Given the description of an element on the screen output the (x, y) to click on. 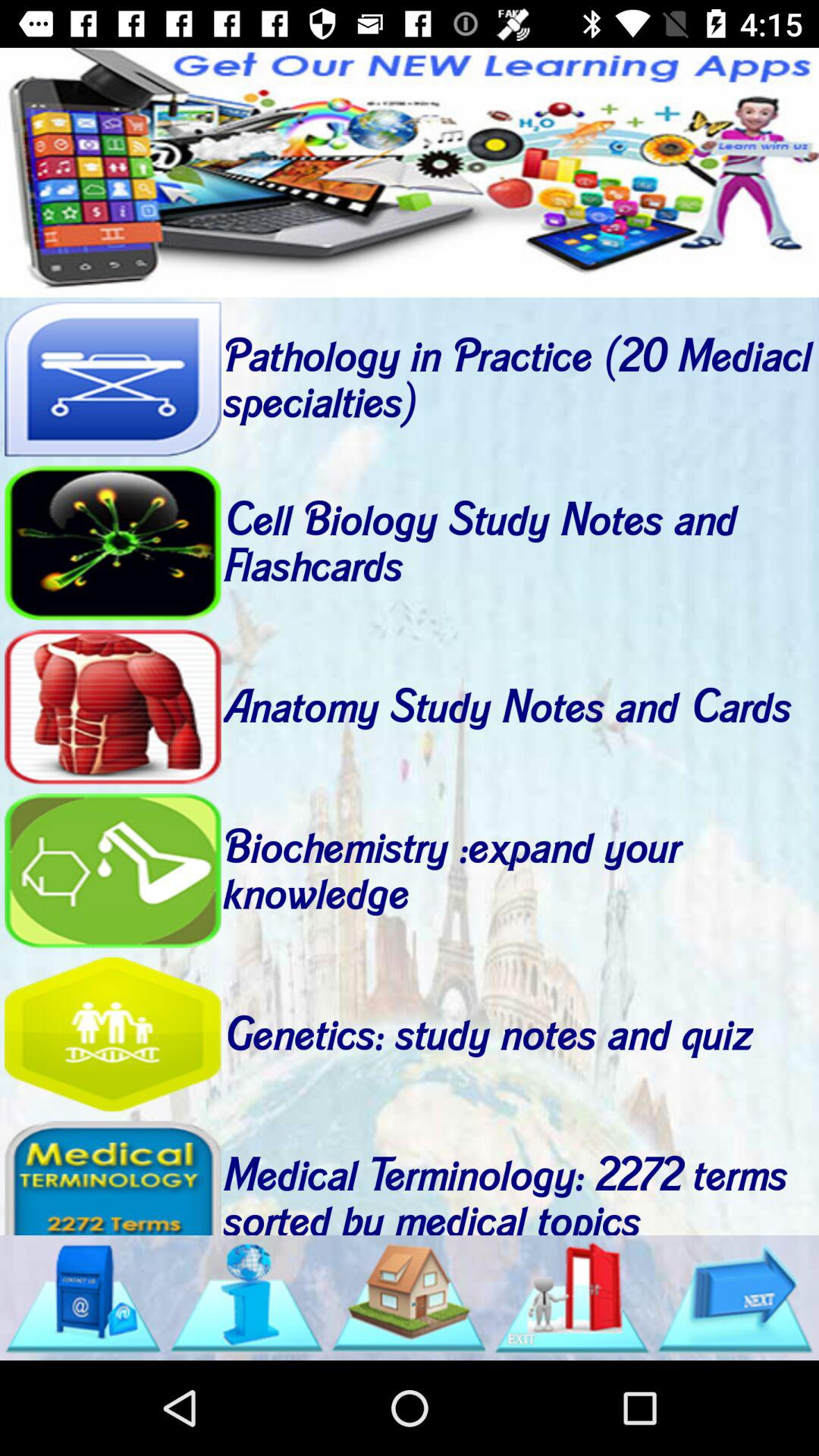
open study notes (112, 542)
